Given the description of an element on the screen output the (x, y) to click on. 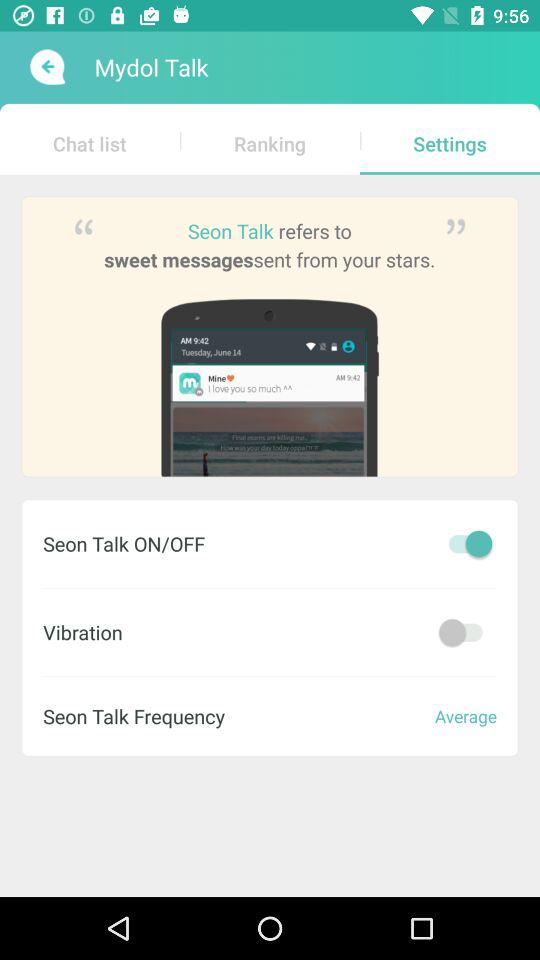
go to off app (465, 632)
